Given the description of an element on the screen output the (x, y) to click on. 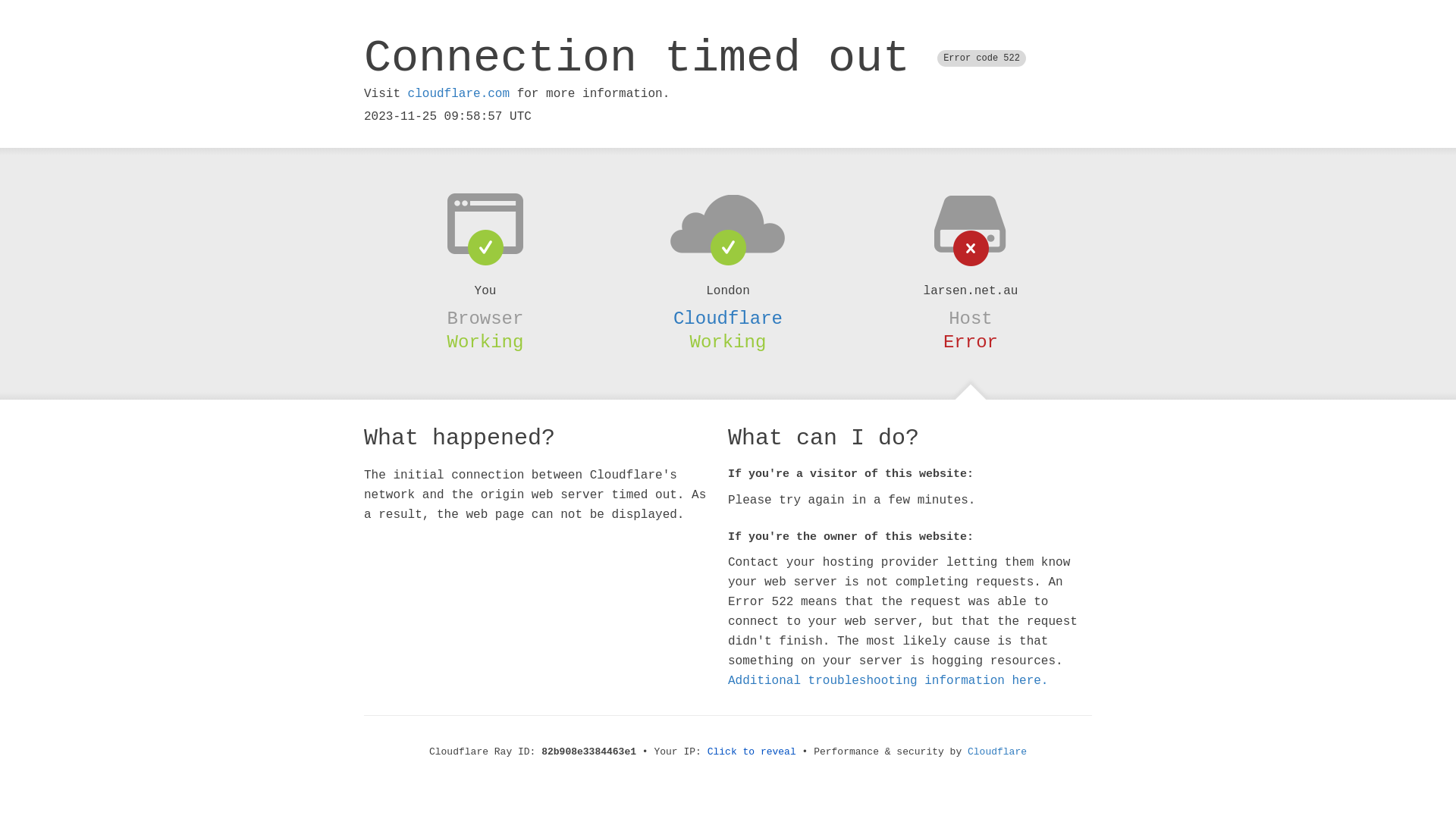
Additional troubleshooting information here. Element type: text (888, 680)
Cloudflare Element type: text (727, 318)
Click to reveal Element type: text (751, 751)
Cloudflare Element type: text (996, 751)
cloudflare.com Element type: text (458, 93)
